Given the description of an element on the screen output the (x, y) to click on. 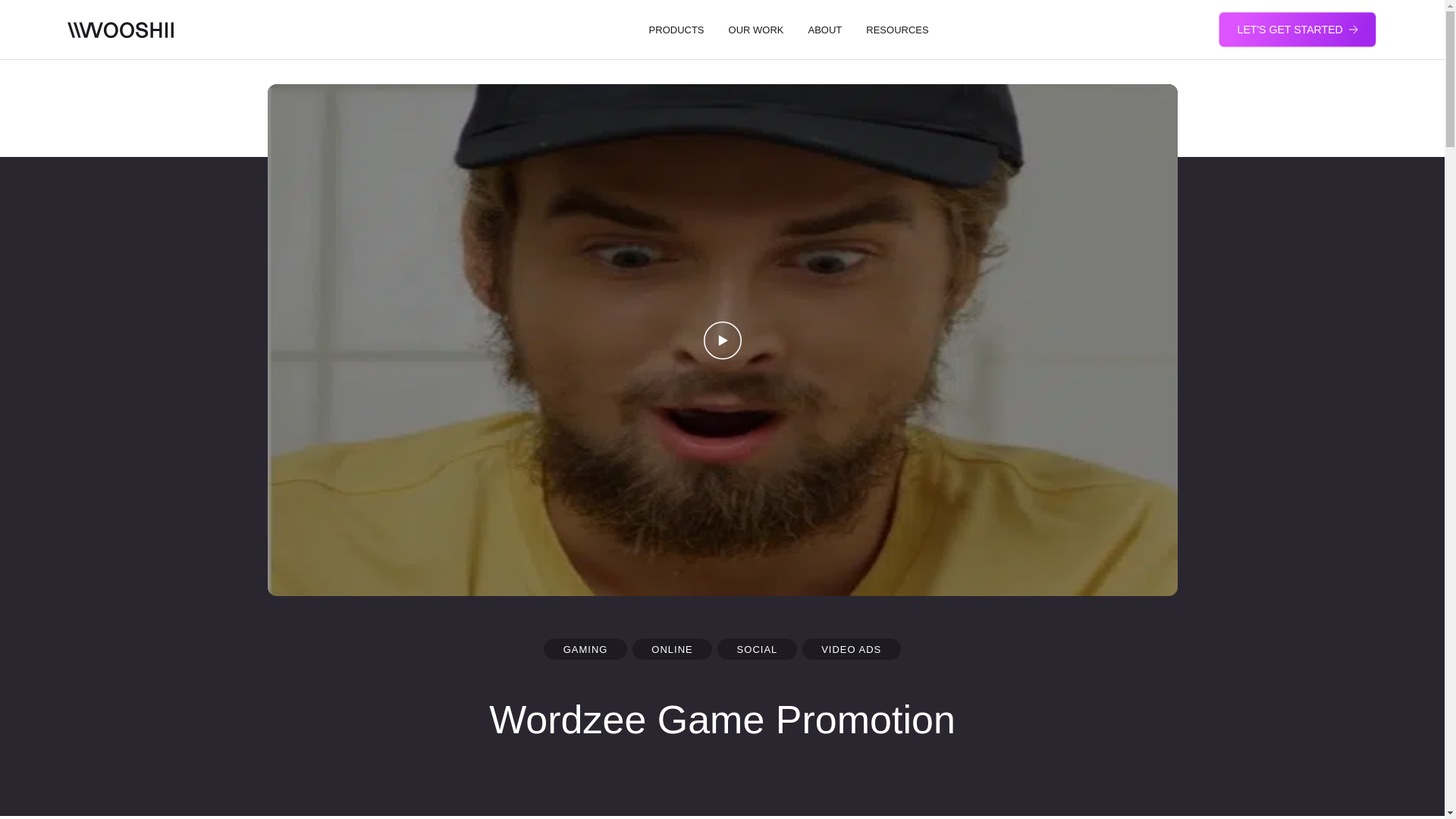
RESOURCES (897, 29)
ABOUT (825, 29)
PRODUCTS (676, 29)
OUR WORK (756, 29)
LET'S GET STARTED (1297, 29)
